Given the description of an element on the screen output the (x, y) to click on. 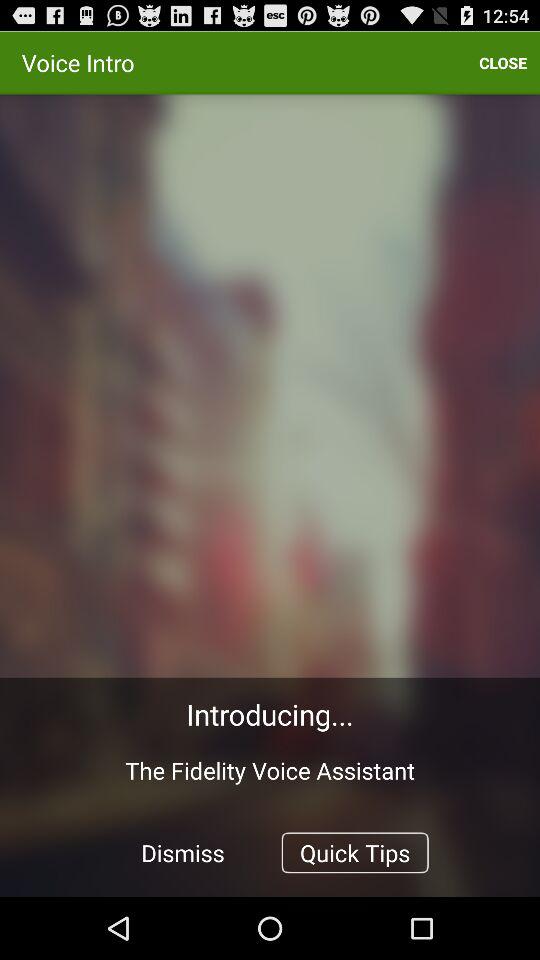
open the icon next to the dismiss item (354, 852)
